Given the description of an element on the screen output the (x, y) to click on. 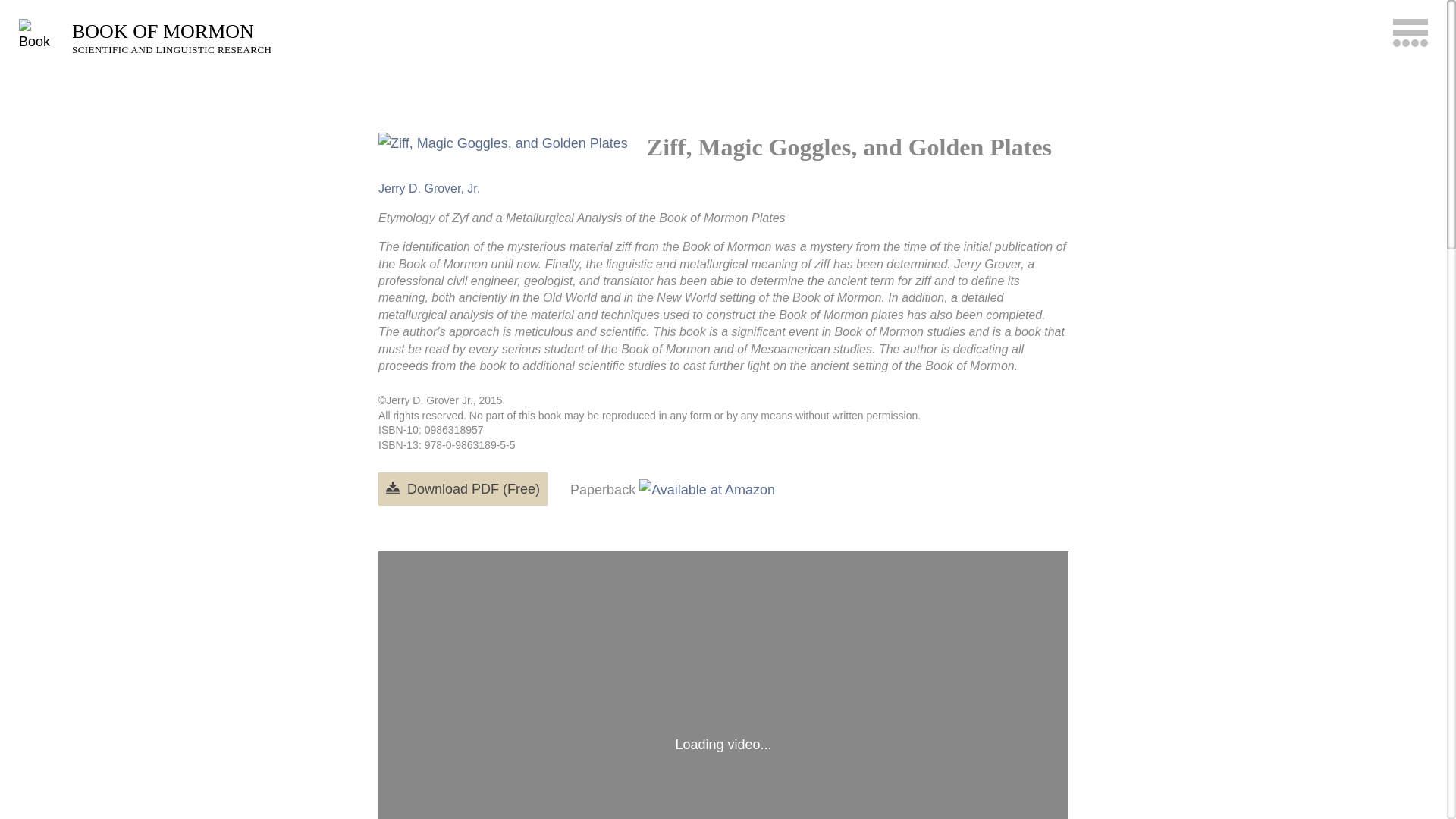
Toggle the site navigation slideout (1410, 32)
Paperback (672, 489)
Jerry D. Grover, Jr. (429, 187)
